Given the description of an element on the screen output the (x, y) to click on. 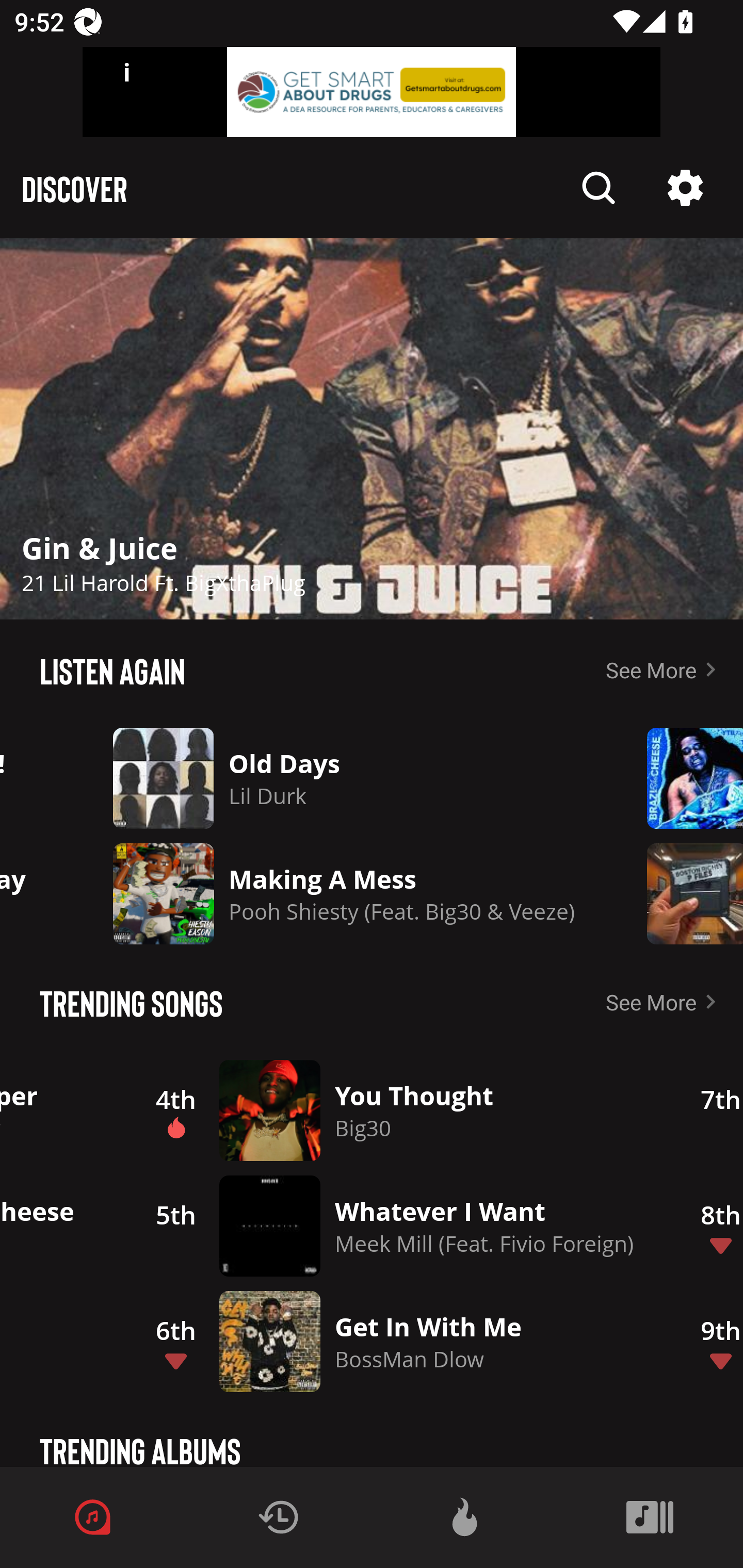
Description (598, 188)
Description (684, 188)
Description (371, 428)
See More (664, 669)
Description Old Days Lil Durk (343, 778)
Description (680, 778)
Description (680, 893)
See More (664, 1001)
4th Description Description You Thought Big30 (397, 1110)
7th (710, 1110)
8th Description (710, 1226)
9th Description (710, 1341)
